Given the description of an element on the screen output the (x, y) to click on. 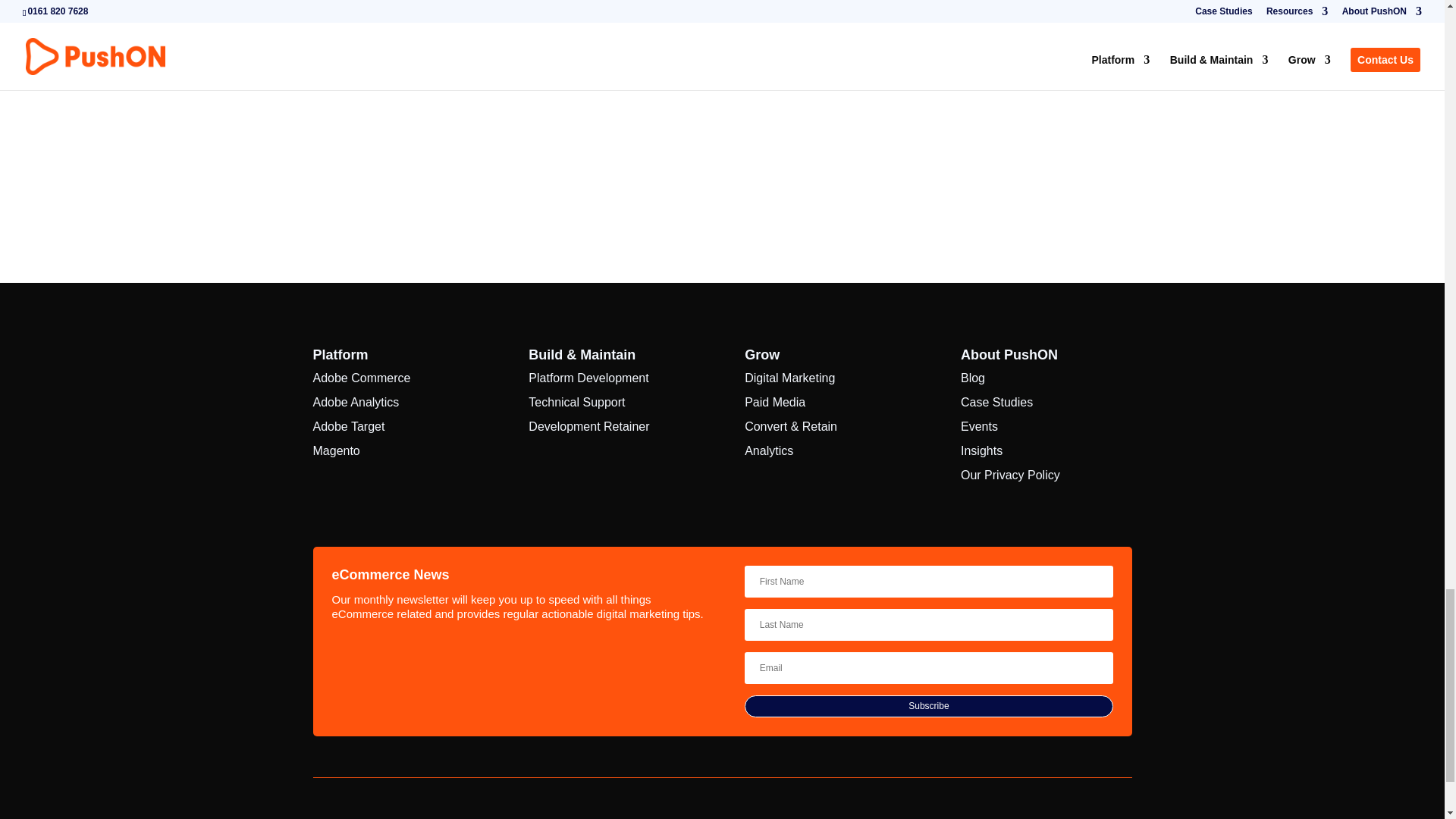
Adobe Commerce (361, 377)
Development Retainer (588, 426)
Technical Support (576, 401)
Platform Development (587, 377)
Adobe Analytics (355, 401)
Adobe Target (348, 426)
